Given the description of an element on the screen output the (x, y) to click on. 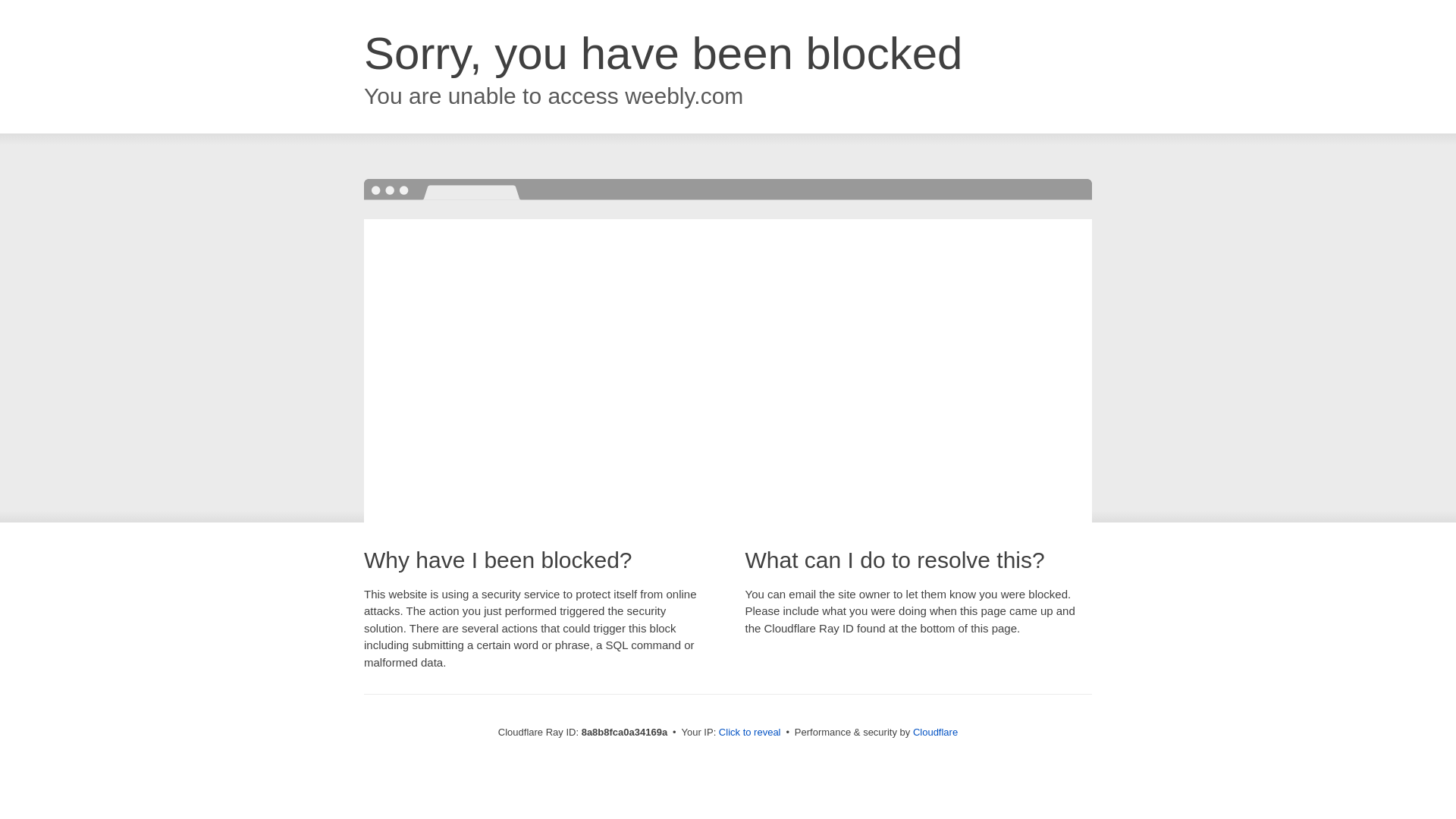
Click to reveal (749, 732)
Cloudflare (935, 731)
